Given the description of an element on the screen output the (x, y) to click on. 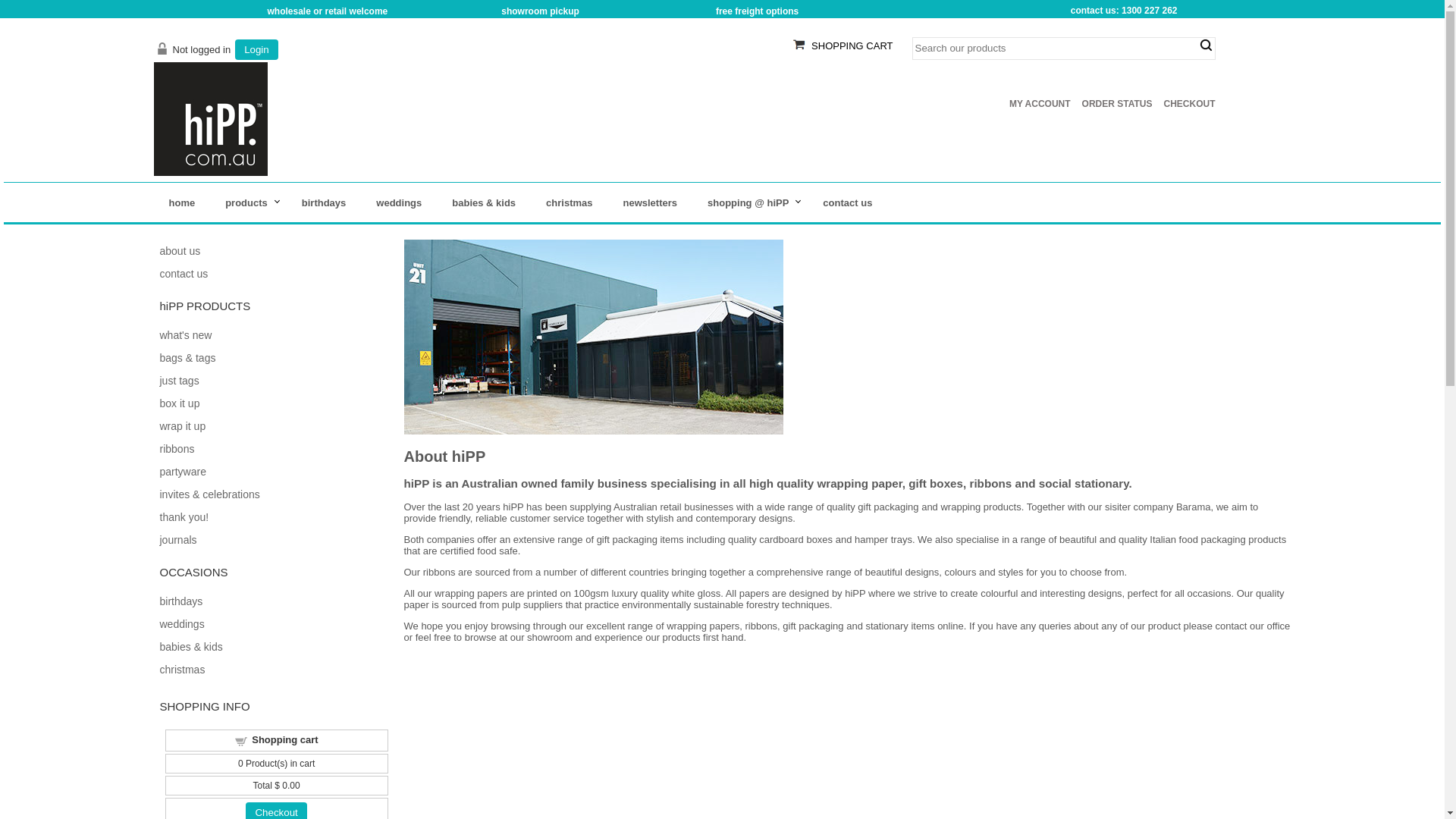
thank you! Element type: text (183, 517)
contact us Element type: text (847, 202)
newsletters Element type: text (650, 202)
christmas Element type: text (181, 669)
wrap it up Element type: text (182, 426)
free freight options Element type: text (756, 11)
box it up Element type: text (179, 403)
invites & celebrations Element type: text (209, 494)
ribbons Element type: text (176, 448)
search Element type: text (1205, 45)
shopping @ hiPP Element type: text (749, 202)
MY ACCOUNT Element type: text (1039, 103)
home Element type: text (181, 202)
products Element type: text (248, 202)
birthdays Element type: text (323, 202)
weddings Element type: text (398, 202)
partyware Element type: text (182, 471)
just tags Element type: text (178, 380)
about us Element type: text (179, 250)
SHOPPING CART Element type: text (851, 45)
babies & kids Element type: text (190, 646)
CHECKOUT Element type: text (1188, 103)
bags & tags Element type: text (187, 357)
babies & kids Element type: text (483, 202)
wholesale or retail welcome Element type: text (326, 11)
ORDER STATUS Element type: text (1117, 103)
contact us Element type: text (183, 273)
weddings Element type: text (181, 624)
Login Element type: text (256, 49)
showroom pickup Element type: text (540, 11)
journals Element type: text (177, 539)
christmas Element type: text (568, 202)
what's new Element type: text (185, 335)
Shopping cart Element type: text (284, 739)
birthdays Element type: text (180, 601)
